Given the description of an element on the screen output the (x, y) to click on. 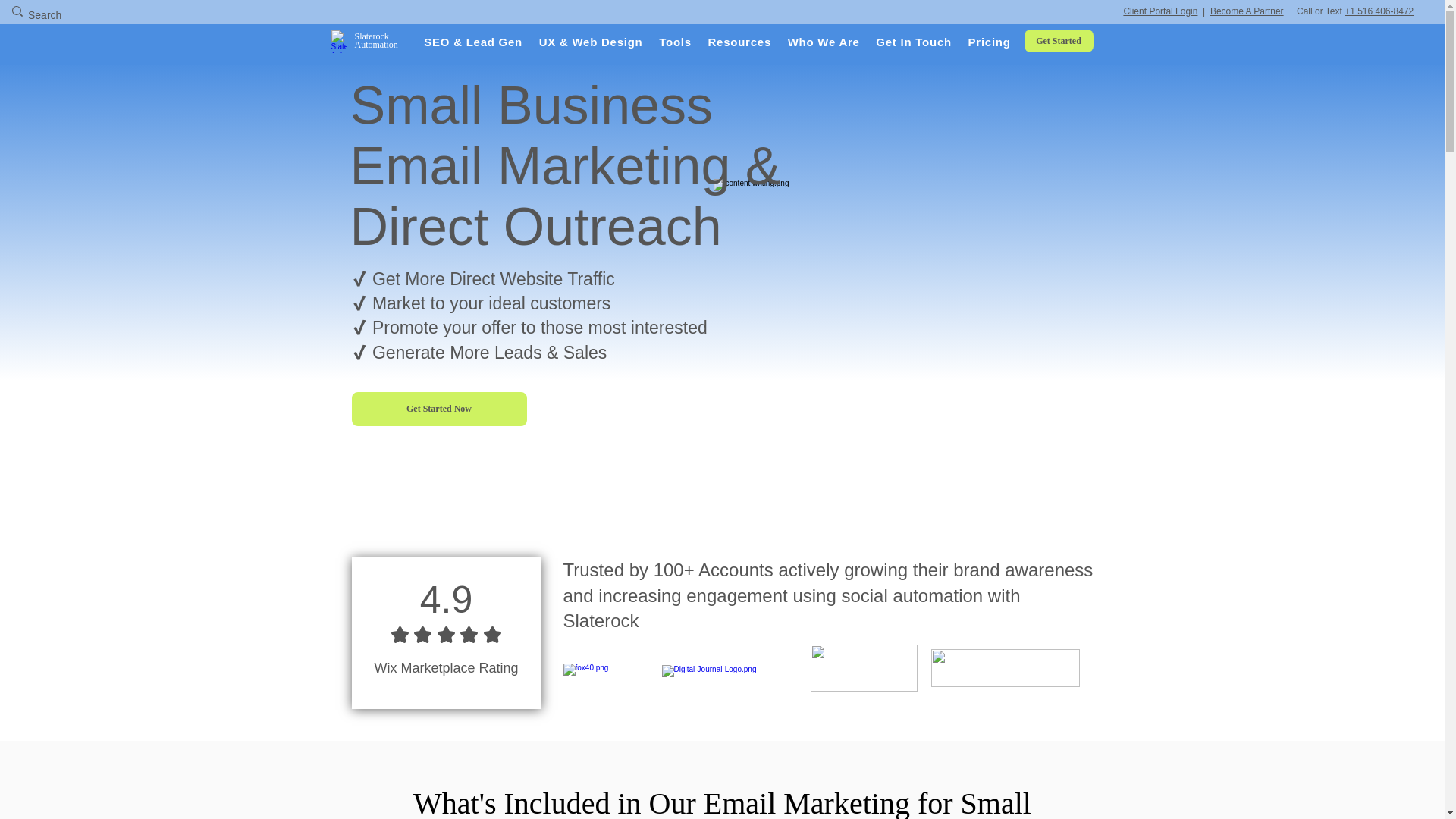
Become A Partner (1246, 10)
Resources (739, 41)
Client Portal Login (1159, 10)
Slaterock Automation (376, 40)
